Given the description of an element on the screen output the (x, y) to click on. 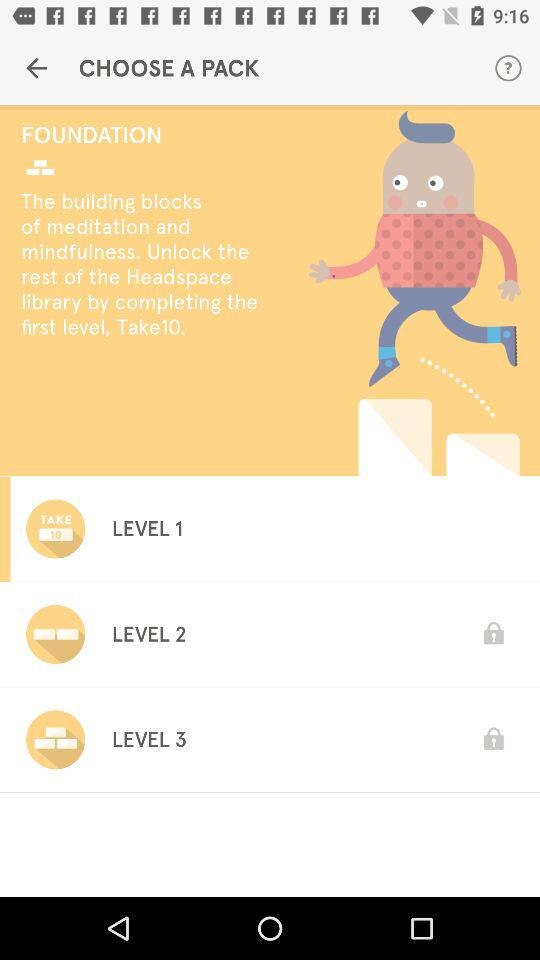
launch the icon at the top right corner (508, 67)
